Given the description of an element on the screen output the (x, y) to click on. 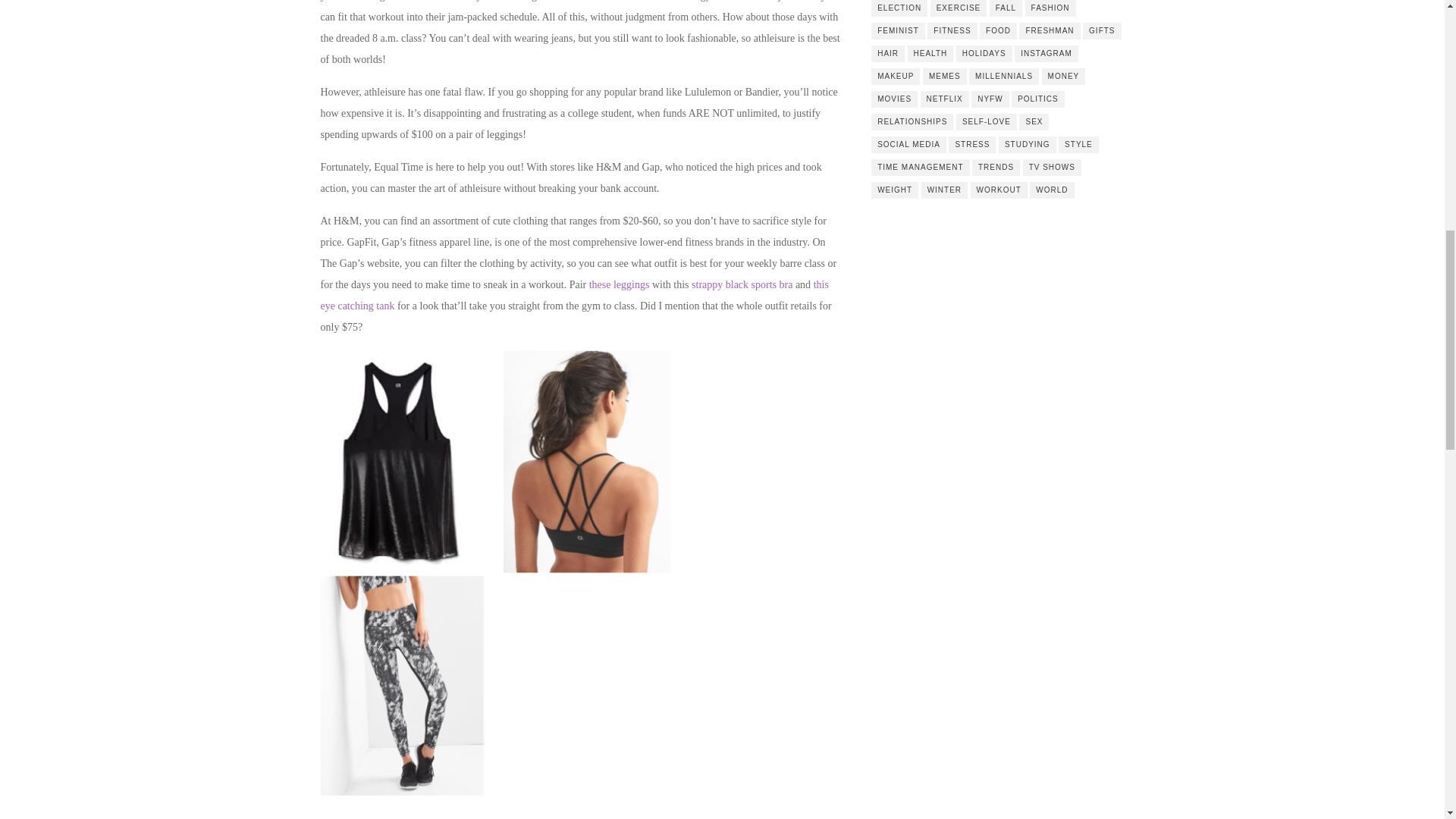
ELECTION (898, 8)
strappy black sports bra (741, 284)
these leggings (619, 284)
FASHION (1050, 8)
this eye catching tank (574, 295)
EXERCISE (958, 8)
FALL (1006, 8)
FEMINIST (897, 30)
